Given the description of an element on the screen output the (x, y) to click on. 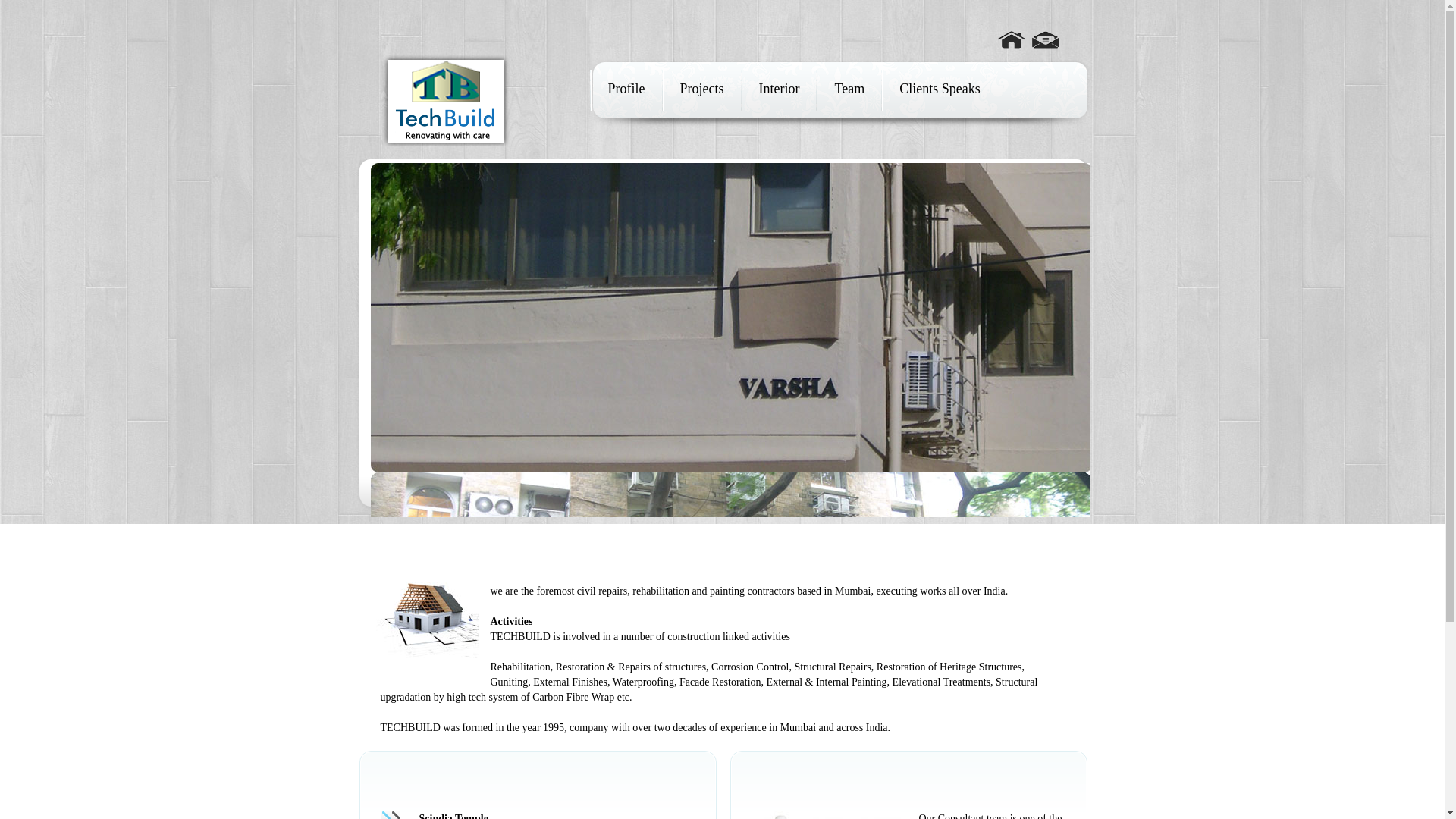
Scindia Temple (453, 816)
Projects (700, 88)
Team (848, 88)
Interior (778, 88)
Contacts (1044, 34)
Home (1010, 34)
Clients Speaks (939, 88)
Profile (626, 88)
